Given the description of an element on the screen output the (x, y) to click on. 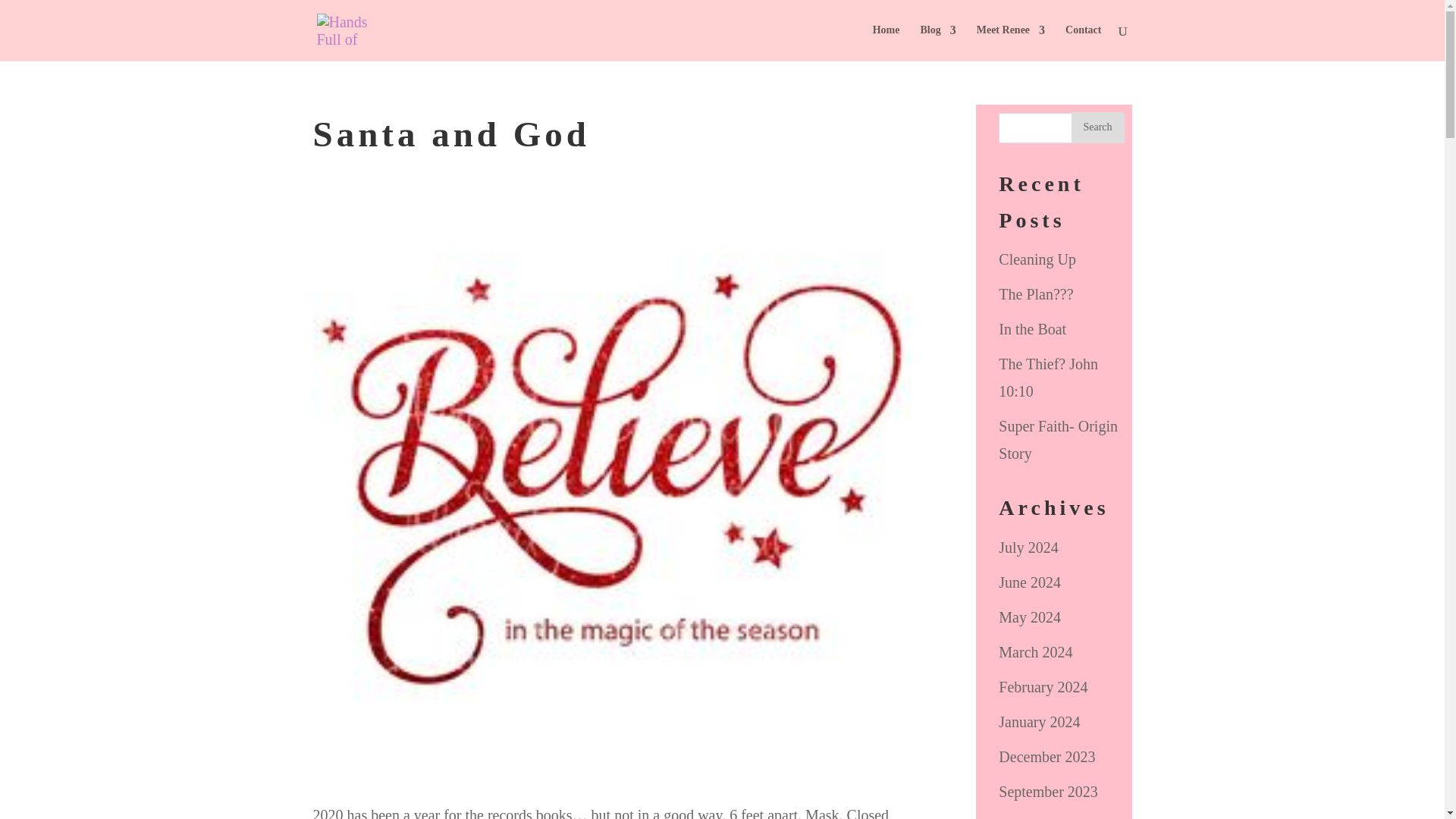
Meet Renee (1010, 42)
June 2024 (1029, 582)
May 2024 (1029, 617)
Search (1097, 127)
The Thief? John 10:10 (1047, 377)
Super Faith- Origin Story (1058, 439)
In the Boat (1031, 329)
The Plan??? (1035, 293)
Search (1097, 127)
March 2024 (1034, 651)
